Given the description of an element on the screen output the (x, y) to click on. 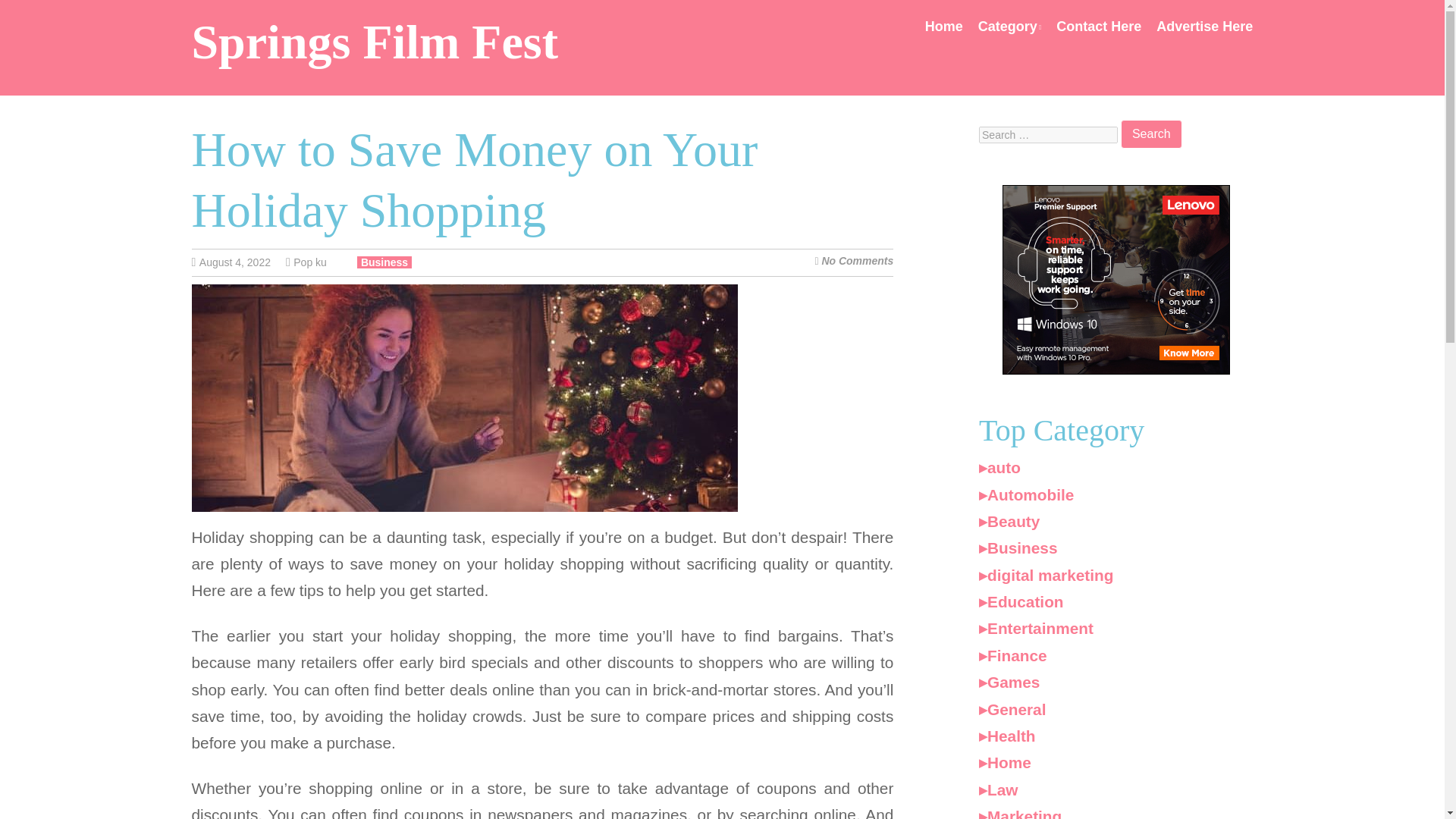
No Comments (857, 260)
Home (1004, 762)
Springs Film Fest (373, 41)
Pop ku (310, 262)
Search (1151, 133)
August 4, 2022 (242, 261)
Category (1010, 26)
Law (997, 789)
Springs Film Fest (373, 41)
Home (943, 26)
auto (999, 466)
Beauty (1008, 520)
Contact Here (1099, 26)
digital marketing (1045, 574)
